Given the description of an element on the screen output the (x, y) to click on. 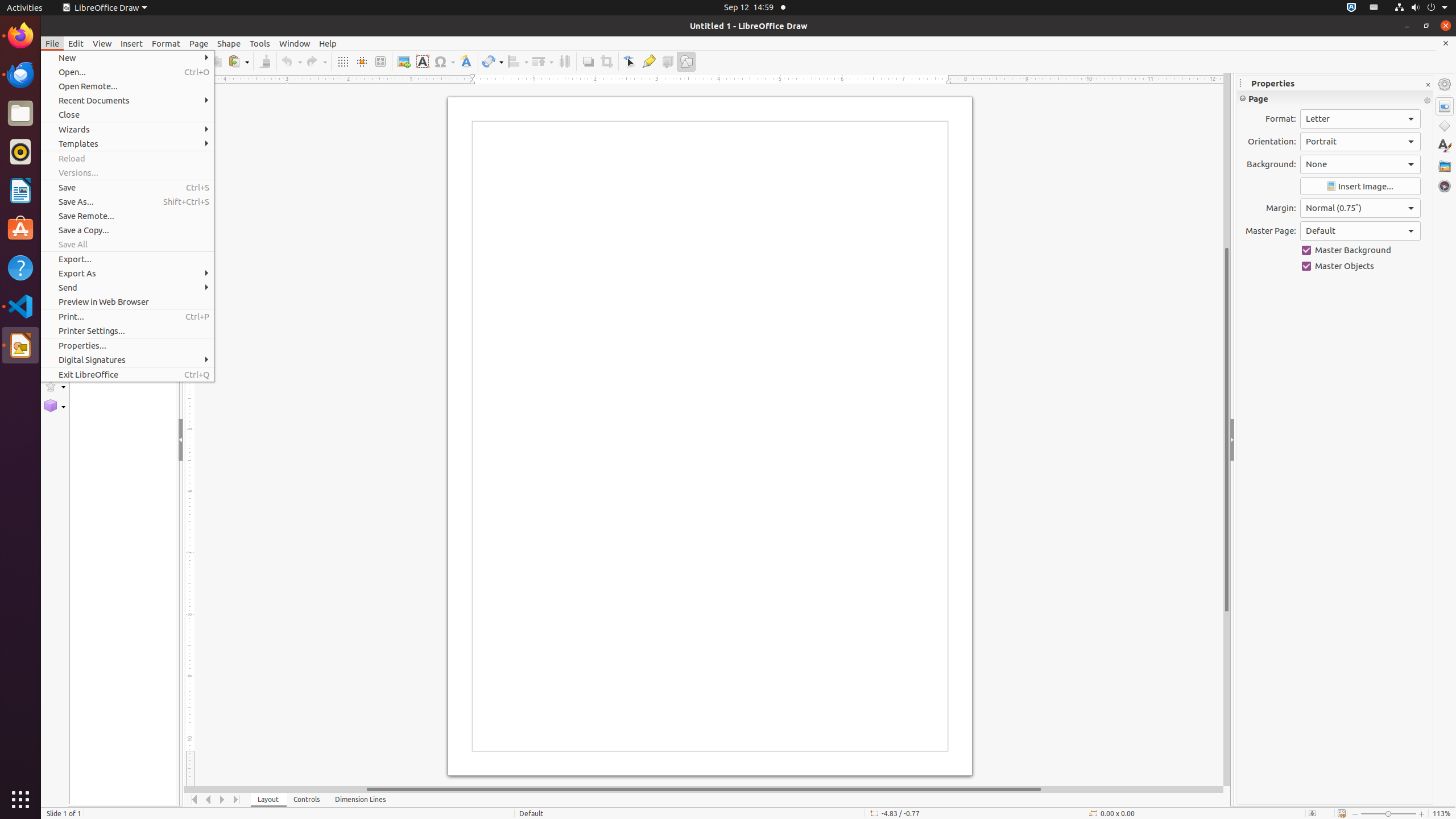
Vertical scroll bar Element type: scroll-bar (1226, 429)
Orientation: Element type: combo-box (1360, 141)
Move Right Element type: push-button (222, 799)
View Element type: menu (102, 43)
